Given the description of an element on the screen output the (x, y) to click on. 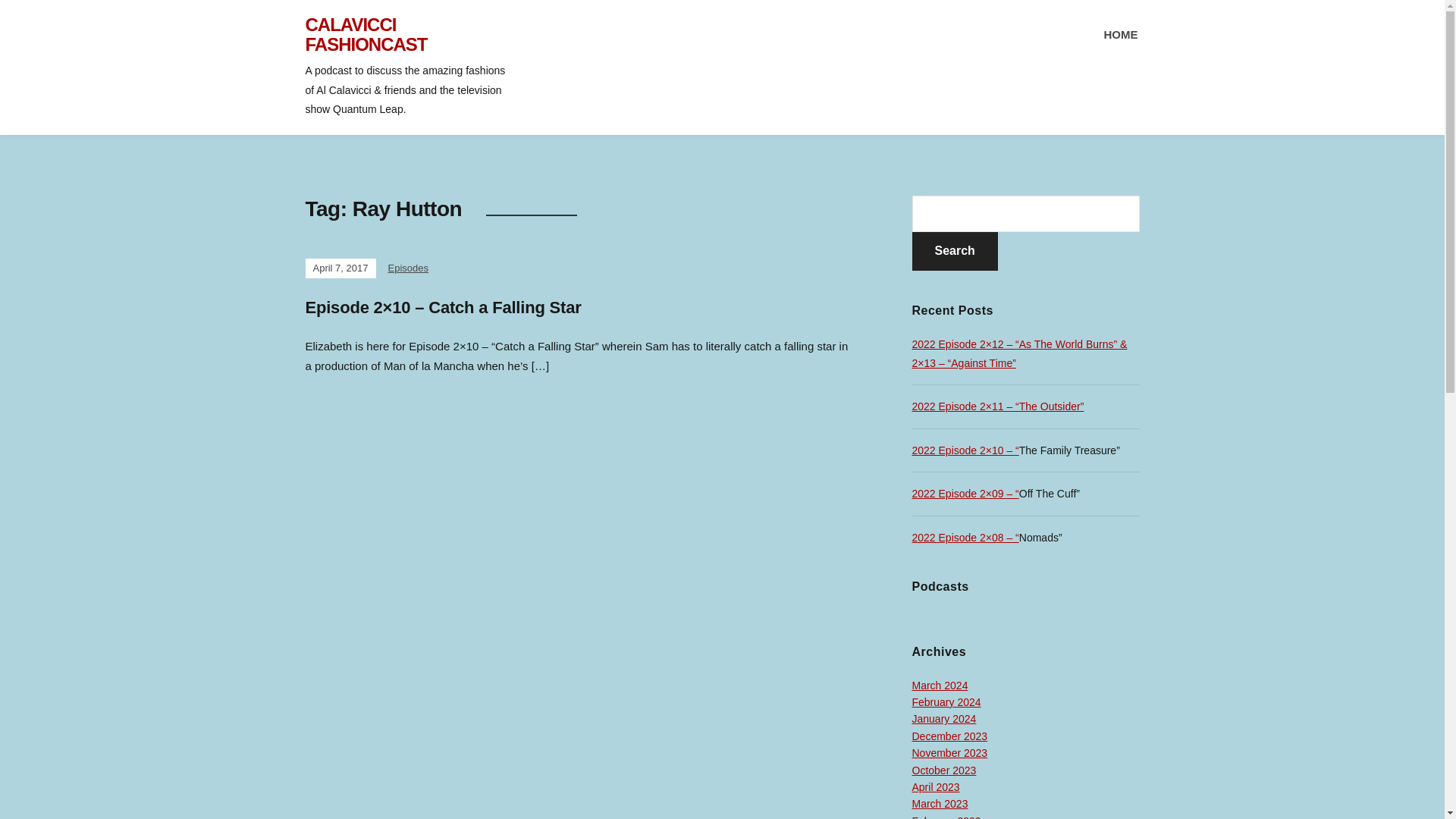
March 2023 (939, 803)
November 2023 (949, 752)
HOME (1121, 34)
October 2023 (943, 770)
January 2024 (943, 718)
March 2024 (939, 685)
Search (954, 251)
CALAVICCI FASHIONCAST (365, 34)
Episodes (408, 267)
Search (954, 251)
